Given the description of an element on the screen output the (x, y) to click on. 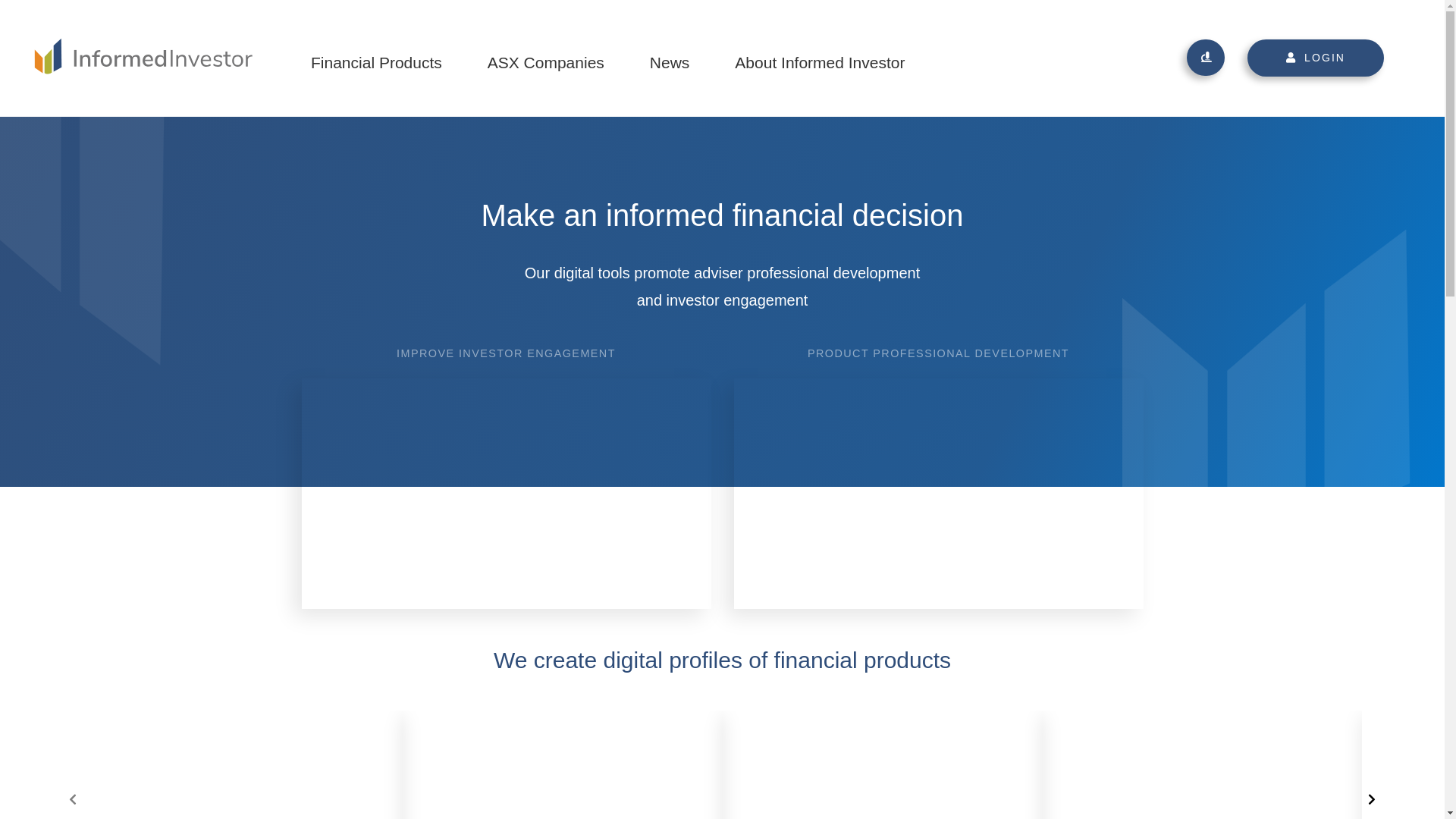
About Informed Investor Element type: text (819, 58)
News Element type: text (669, 58)
Financial Products Element type: text (376, 58)
ASX Companies Element type: text (545, 58)
LOGIN Element type: text (1315, 57)
LOGIN Element type: text (1303, 57)
